Given the description of an element on the screen output the (x, y) to click on. 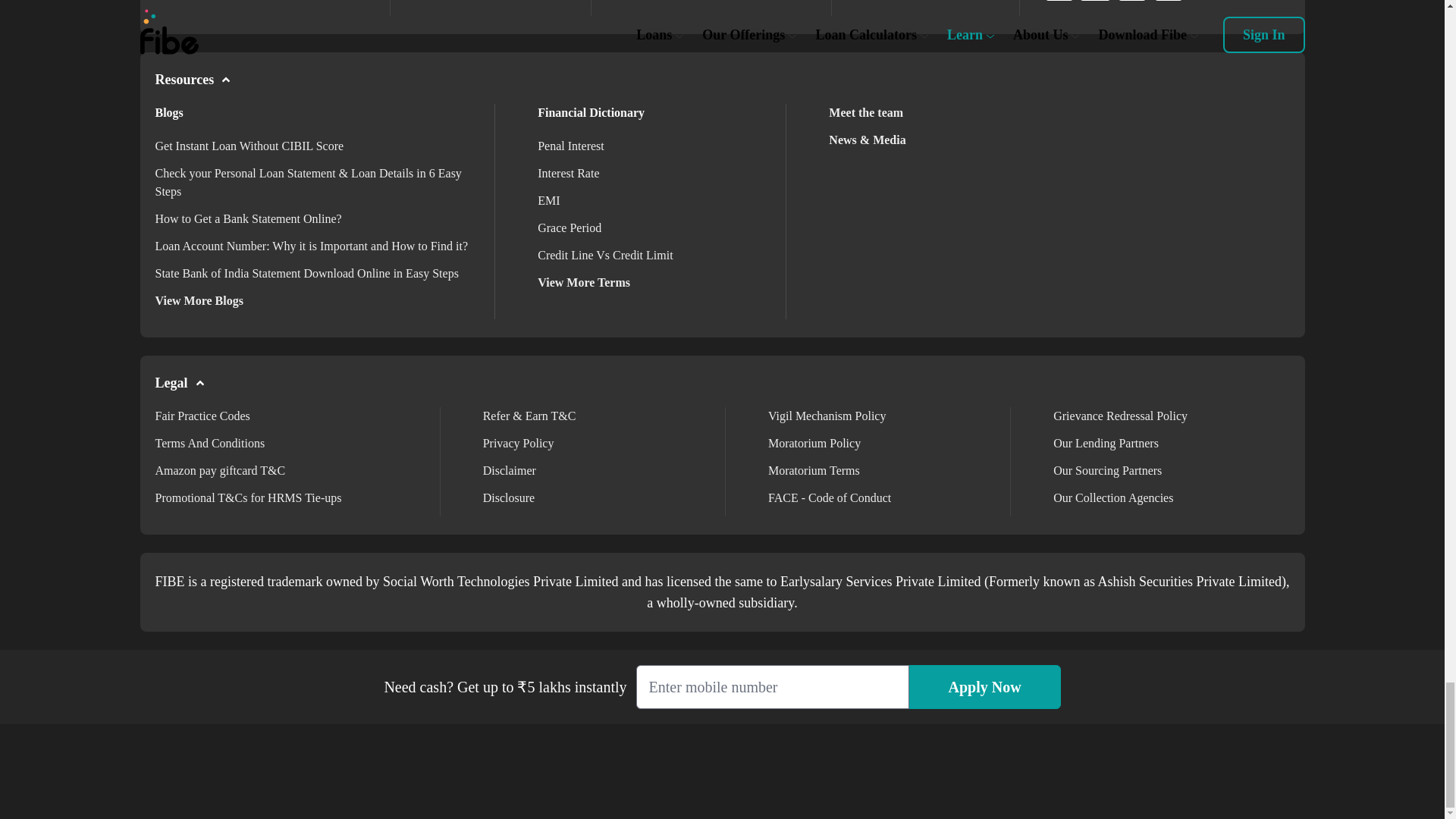
Grievance Redressal Policy (1120, 415)
face code conduct (829, 497)
Privacy Policy (518, 442)
moratorium-terms (814, 470)
fair code practices (201, 415)
moratorium policy (814, 442)
disclosure (508, 497)
